Given the description of an element on the screen output the (x, y) to click on. 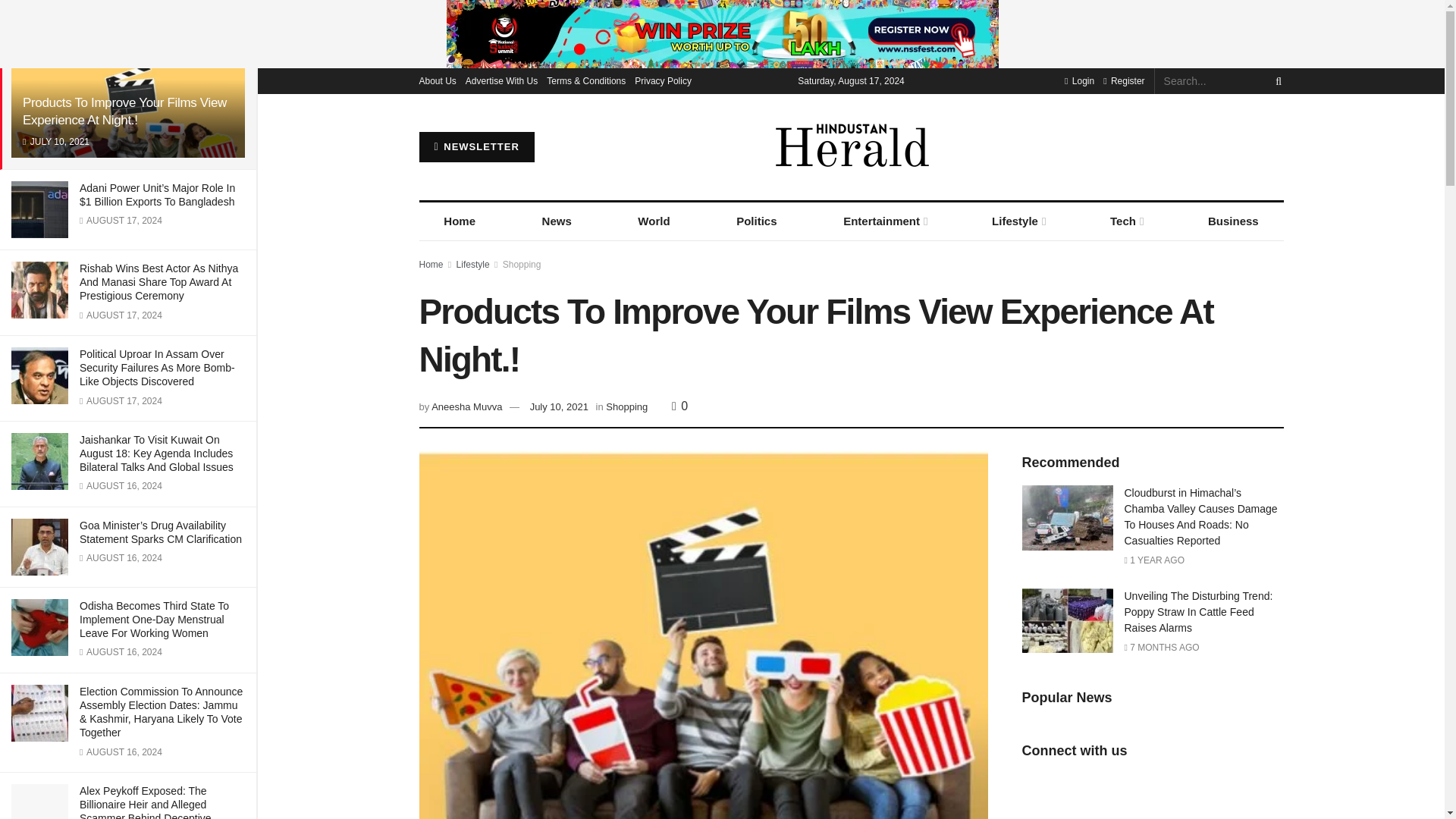
NEWSLETTER (476, 146)
Advertise With Us (501, 80)
Login (1079, 80)
About Us (437, 80)
Privacy Policy (662, 80)
